Given the description of an element on the screen output the (x, y) to click on. 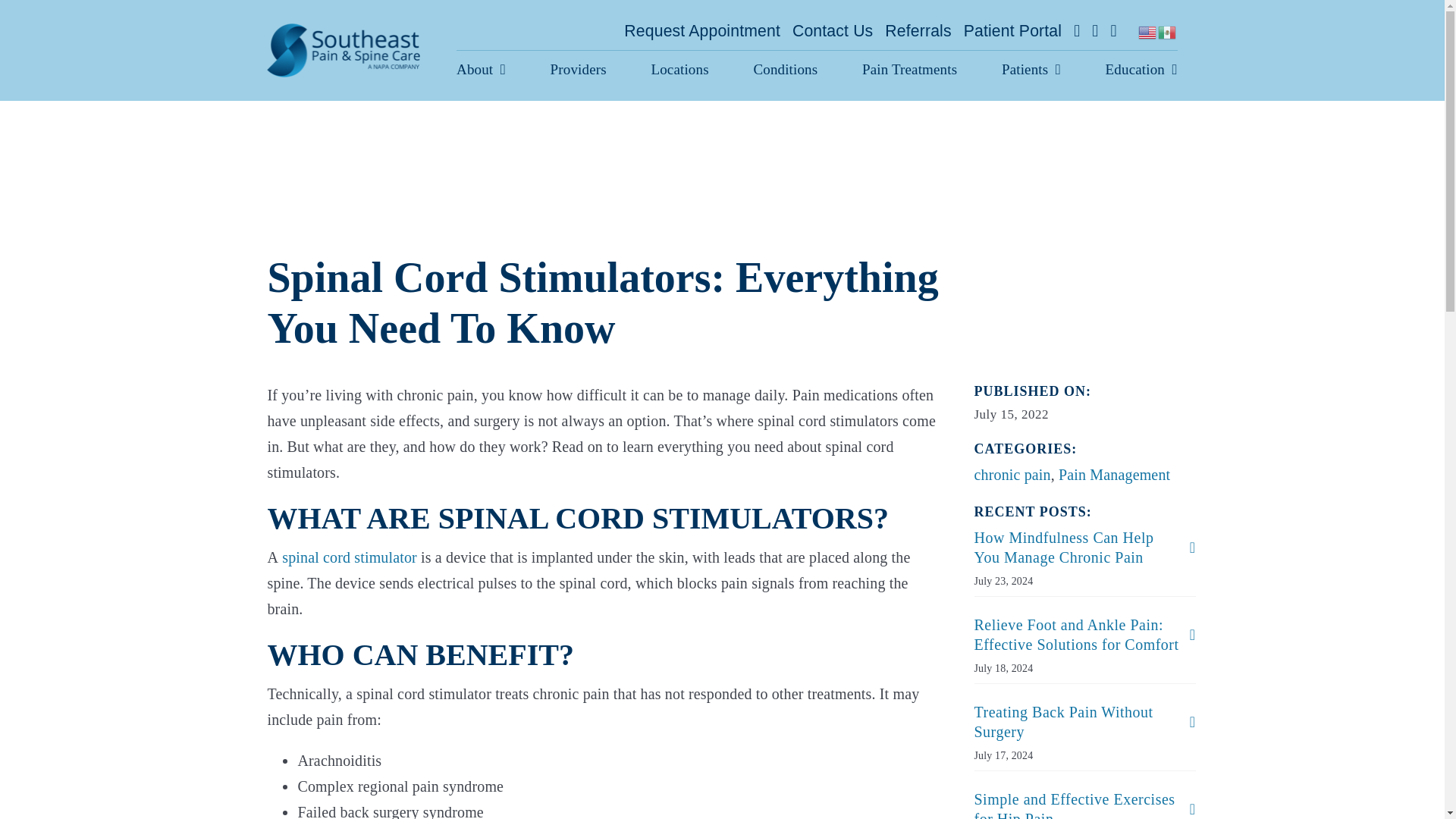
Request Appointment (702, 30)
Spanish (1167, 30)
chronic pain (1011, 474)
Patient Portal (1012, 30)
Referrals (917, 30)
Pain Management (1114, 474)
Contact Us (832, 30)
About (481, 69)
English (1147, 30)
